Given the description of an element on the screen output the (x, y) to click on. 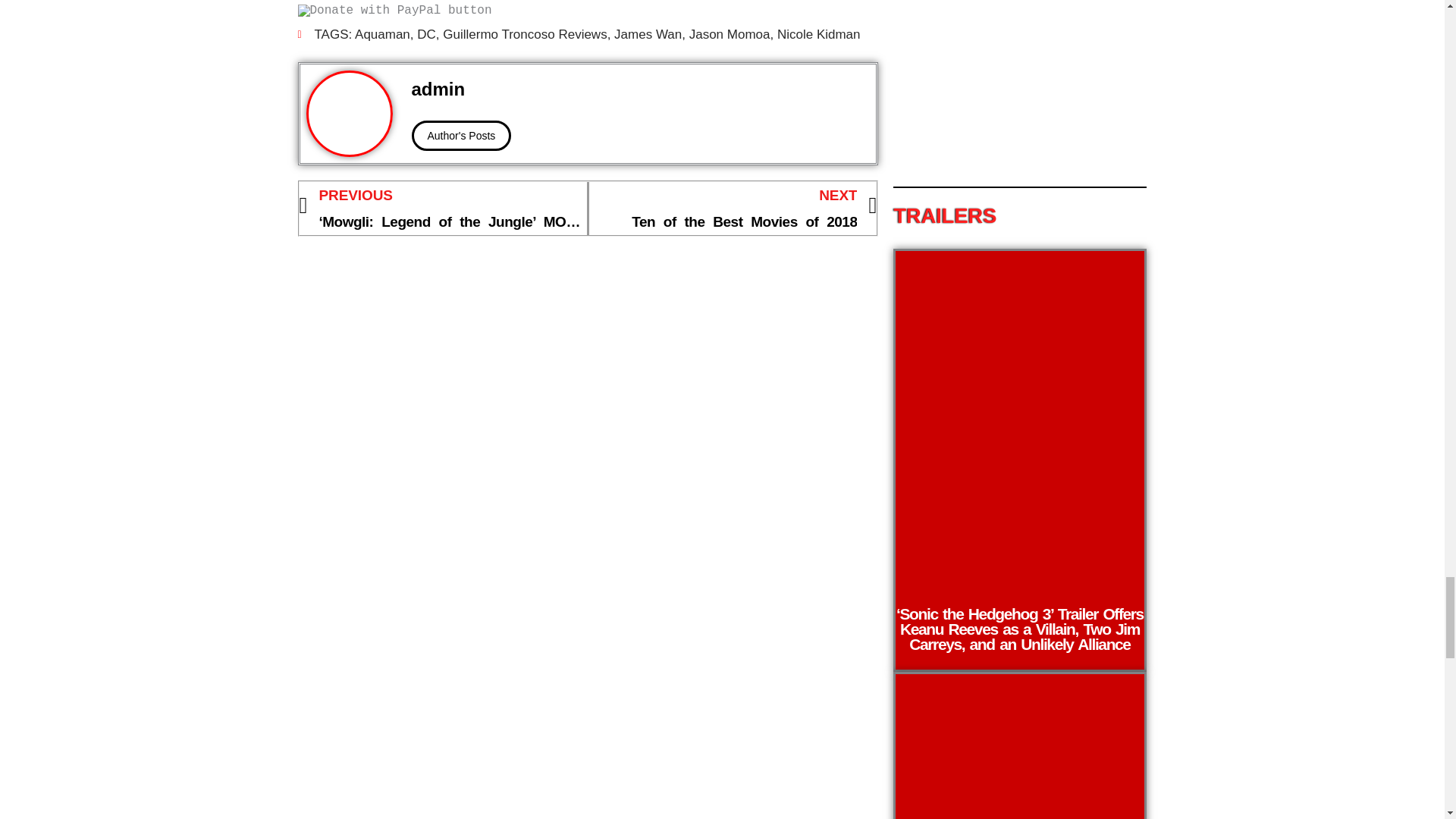
PayPal - The safer, easier way to pay online! (732, 208)
admin (394, 10)
Nicole Kidman (639, 89)
Author's Posts (818, 34)
Aquaman (460, 135)
Guillermo Troncoso Reviews (382, 34)
DC (524, 34)
Jason Momoa (425, 34)
James Wan (729, 34)
